Given the description of an element on the screen output the (x, y) to click on. 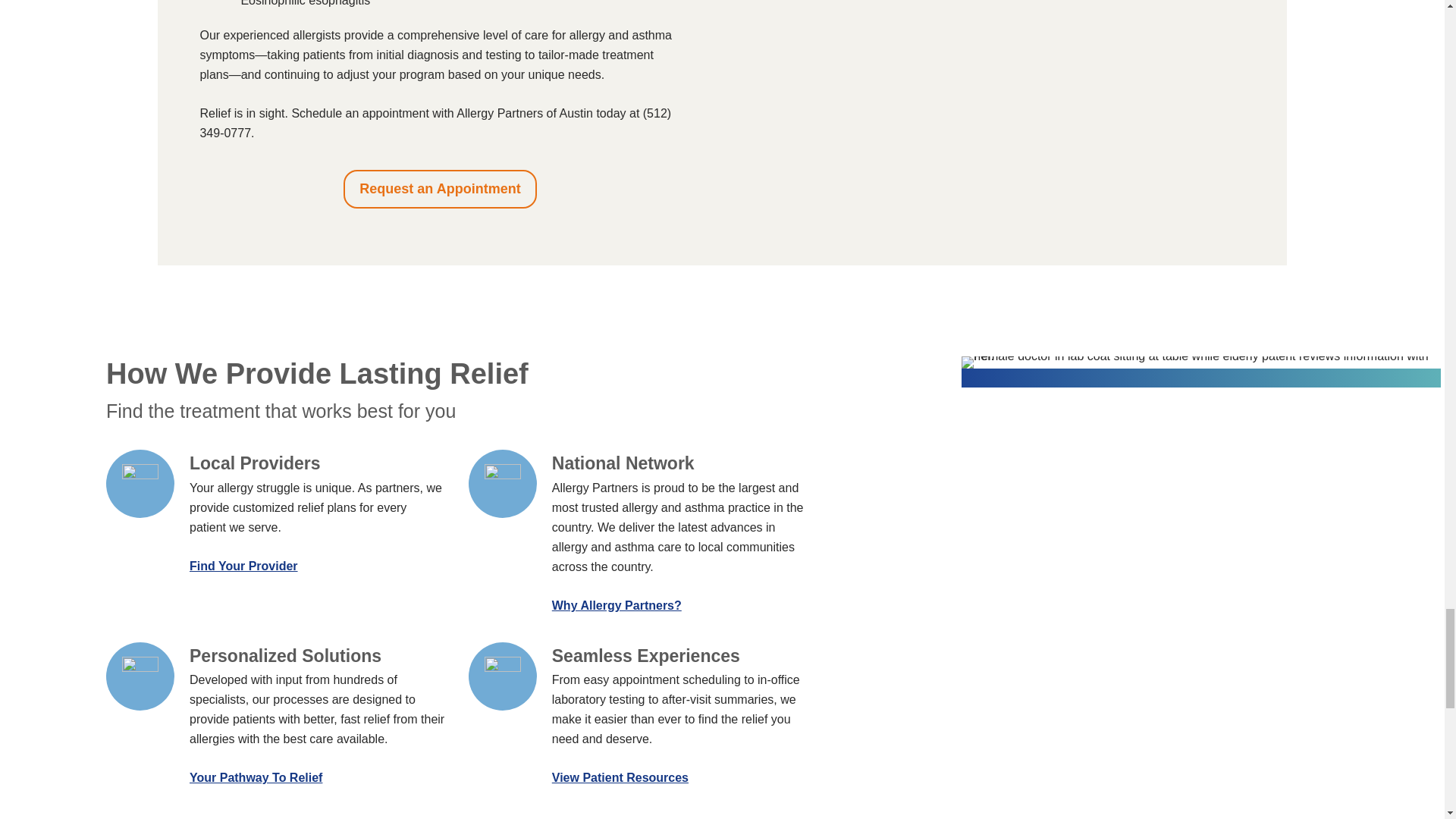
map-icon (502, 482)
personalized-icon (140, 674)
seamless-icon (502, 674)
physician-icon (140, 482)
